Given the description of an element on the screen output the (x, y) to click on. 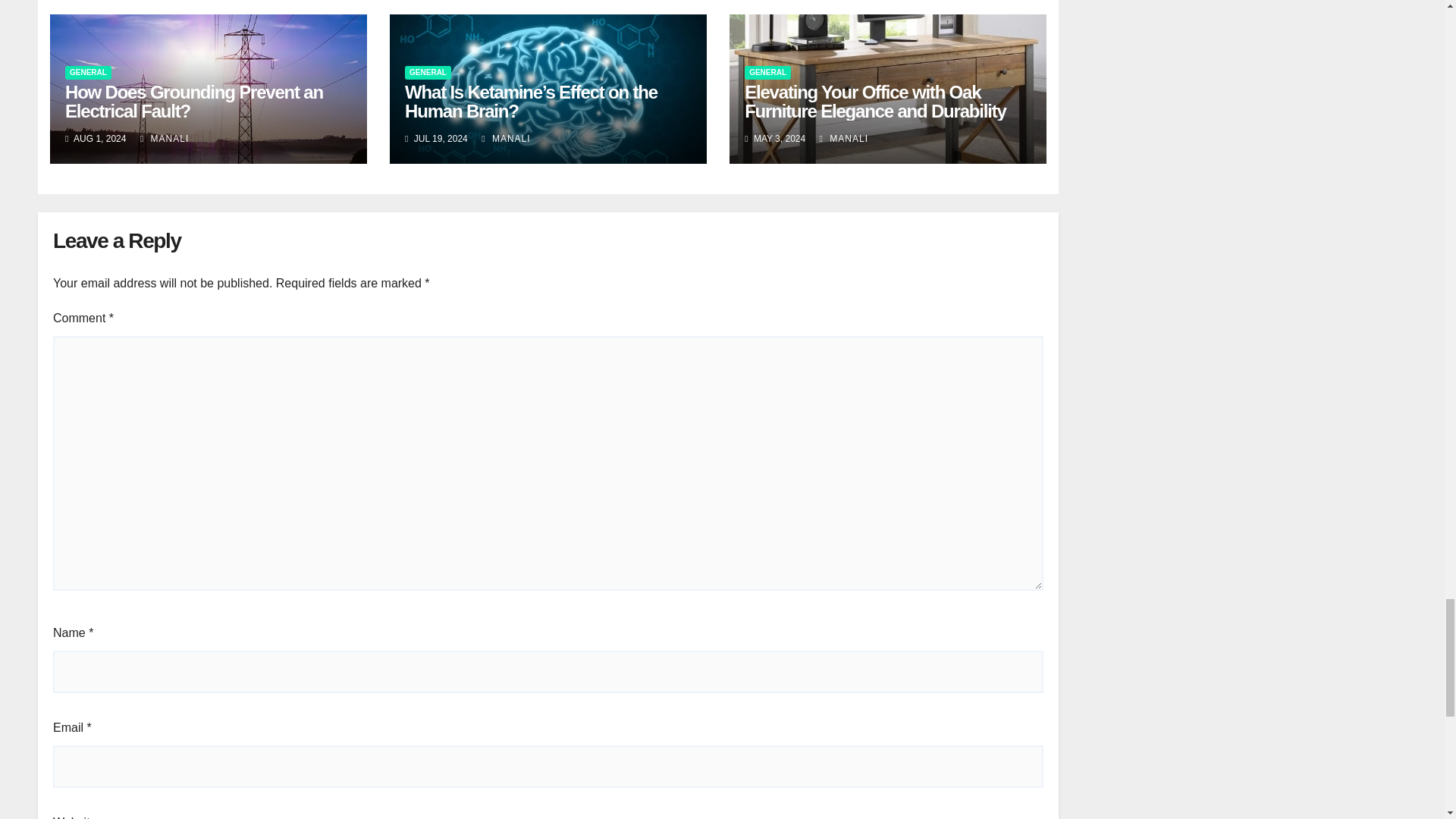
How Does Grounding Prevent an Electrical Fault? (194, 101)
GENERAL (88, 72)
MANALI (164, 138)
GENERAL (427, 72)
MANALI (505, 138)
GENERAL (767, 72)
